Given the description of an element on the screen output the (x, y) to click on. 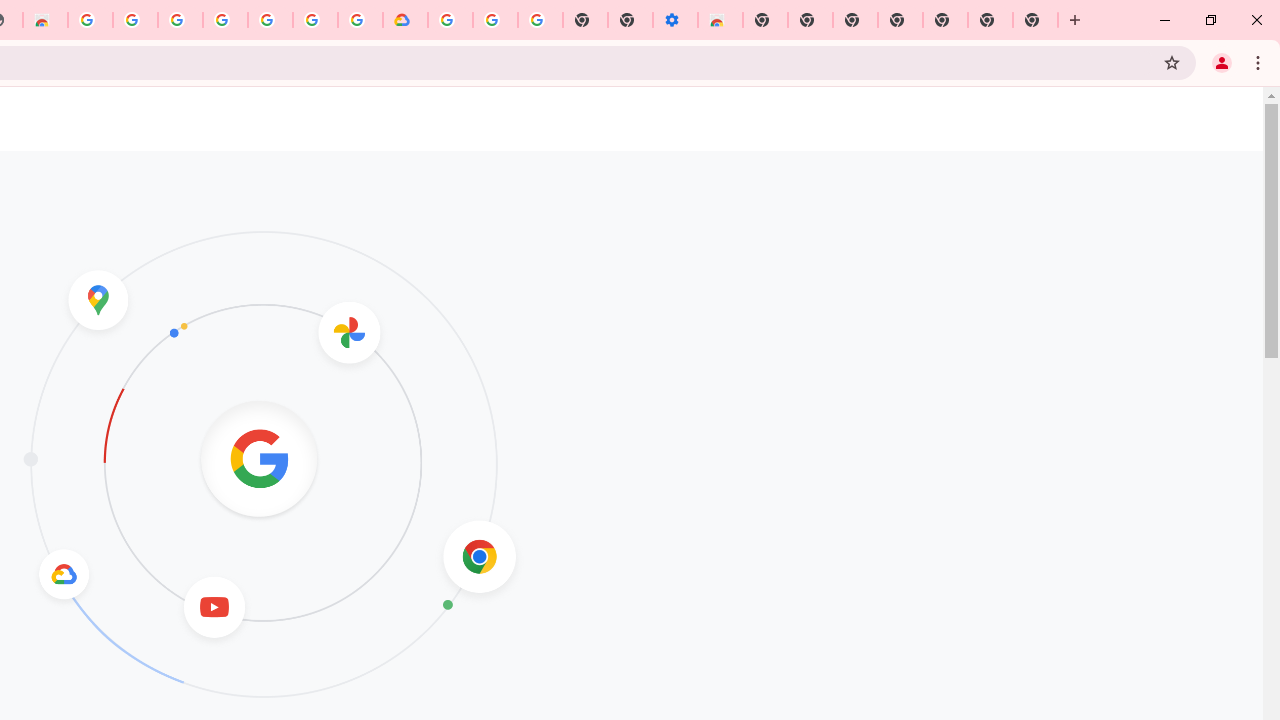
Google Account Help (495, 20)
Sign in - Google Accounts (315, 20)
Chrome Web Store - Household (45, 20)
New Tab (944, 20)
New Tab (1035, 20)
Sign in - Google Accounts (180, 20)
